Given the description of an element on the screen output the (x, y) to click on. 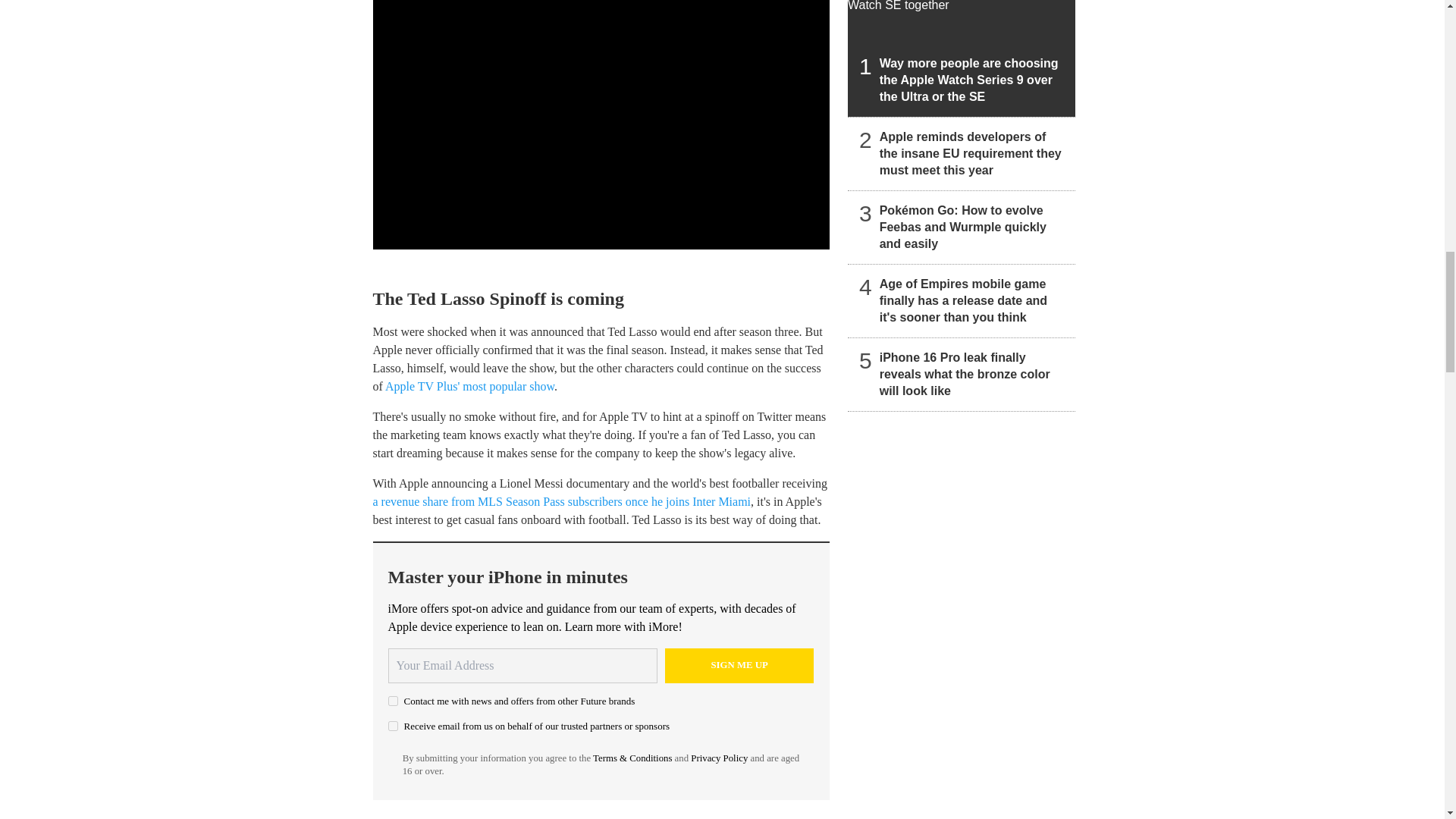
on (392, 700)
Sign me up (739, 665)
on (392, 726)
